Given the description of an element on the screen output the (x, y) to click on. 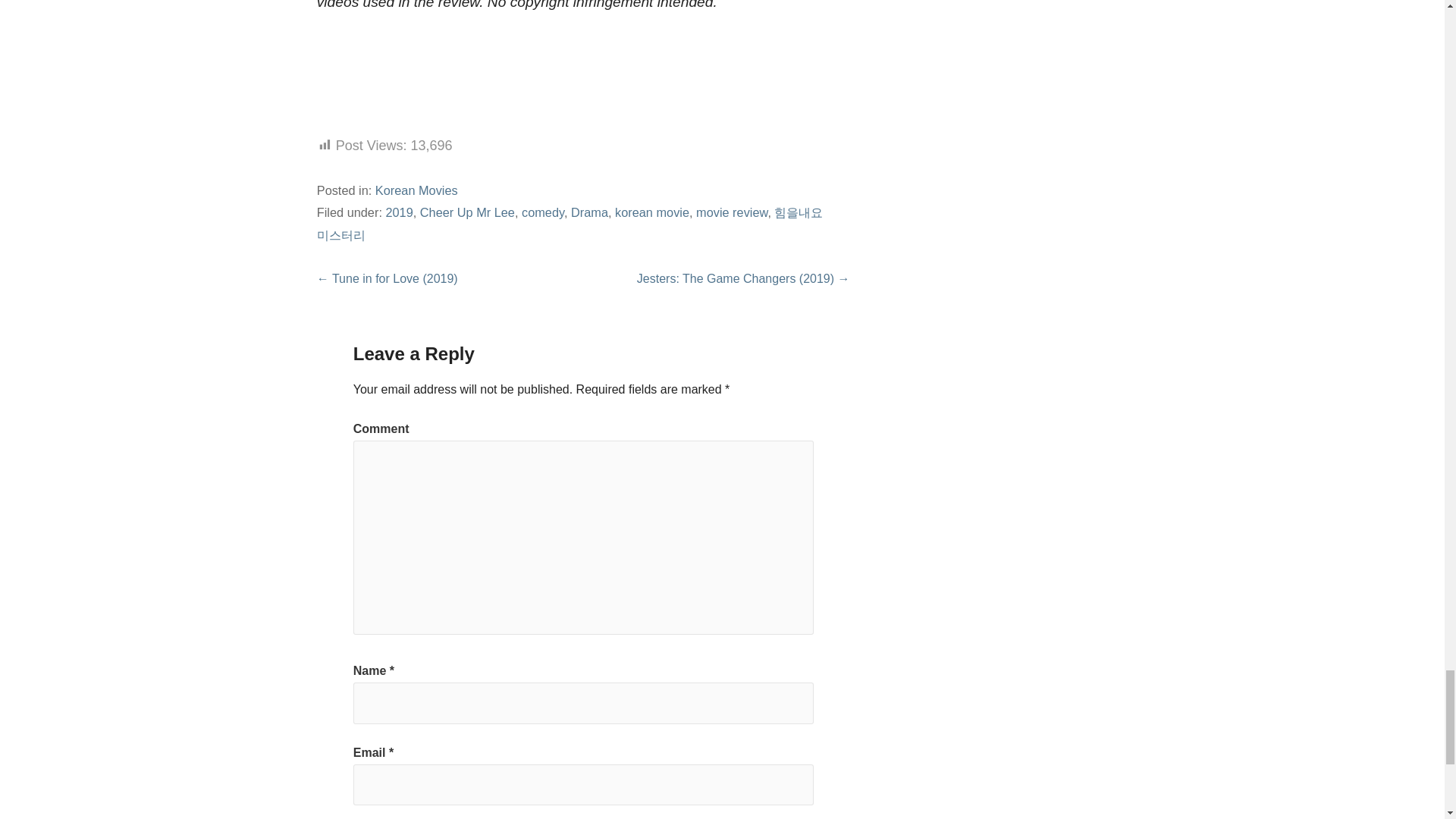
comedy (542, 212)
Cheer Up Mr Lee (467, 212)
Korean Movies (416, 190)
2019 (398, 212)
korean movie (651, 212)
movie review (731, 212)
Drama (589, 212)
